Given the description of an element on the screen output the (x, y) to click on. 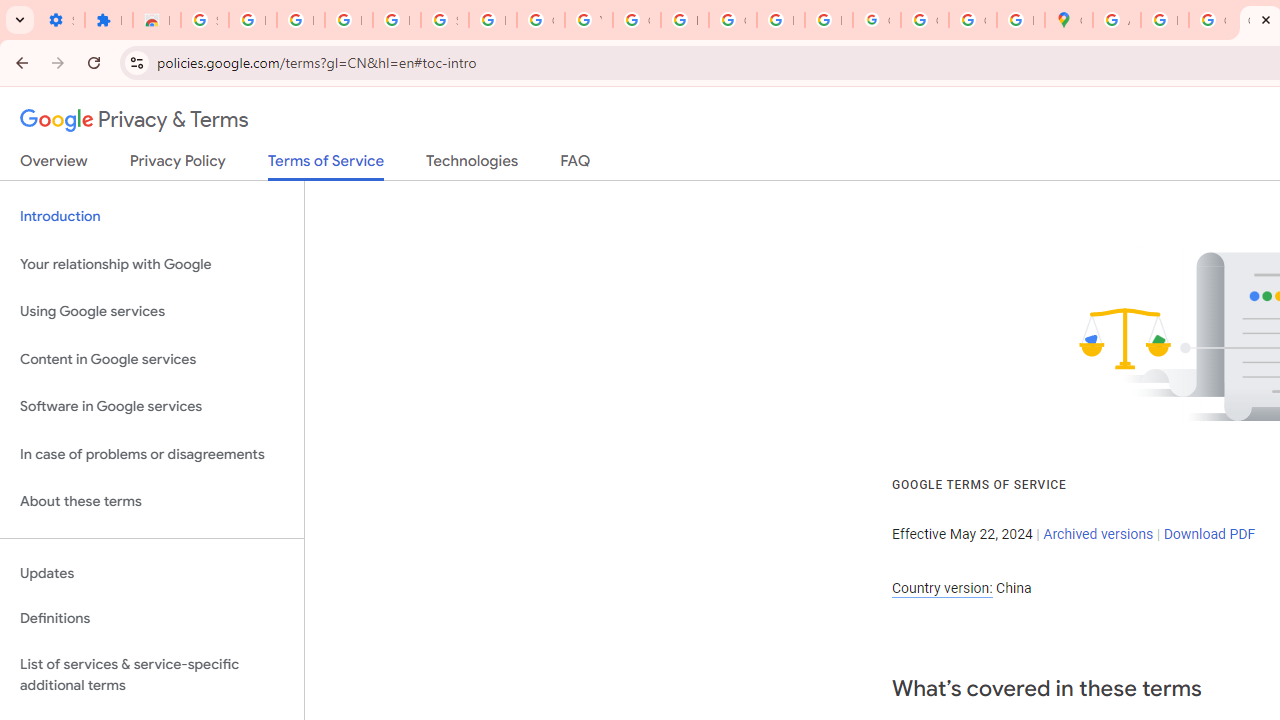
In case of problems or disagreements (152, 453)
Definitions (152, 619)
Software in Google services (152, 407)
Your relationship with Google (152, 263)
Introduction (152, 216)
List of services & service-specific additional terms (152, 674)
